Given the description of an element on the screen output the (x, y) to click on. 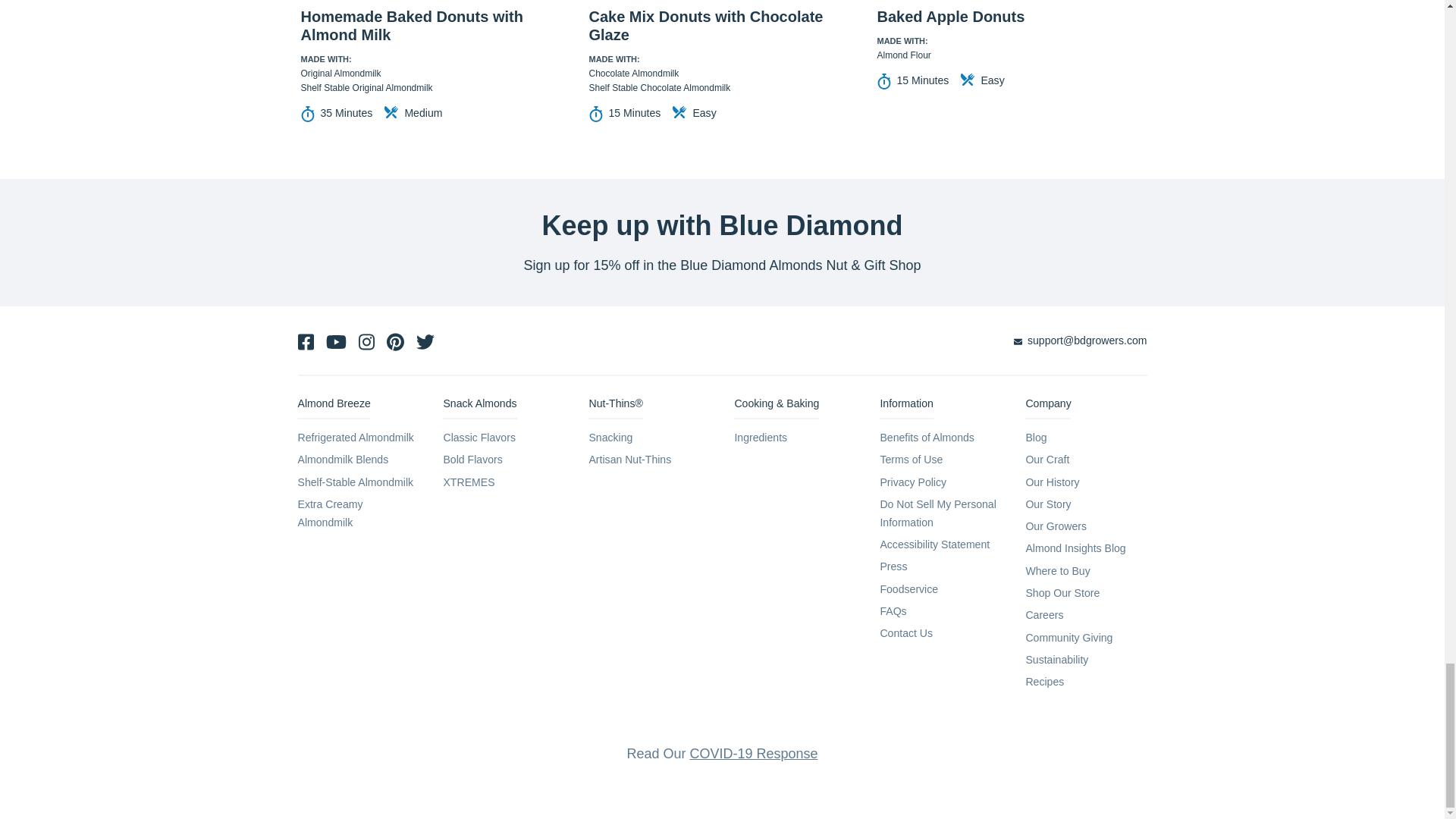
Snack Almonds (479, 407)
XTREMES (468, 481)
Classic Flavors (478, 437)
Almond Breeze (333, 407)
Extra Creamy Almondmilk (329, 512)
Refrigerated Almondmilk (355, 437)
Shelf-Stable Almondmilk (355, 481)
Bold Flavors (472, 459)
